Given the description of an element on the screen output the (x, y) to click on. 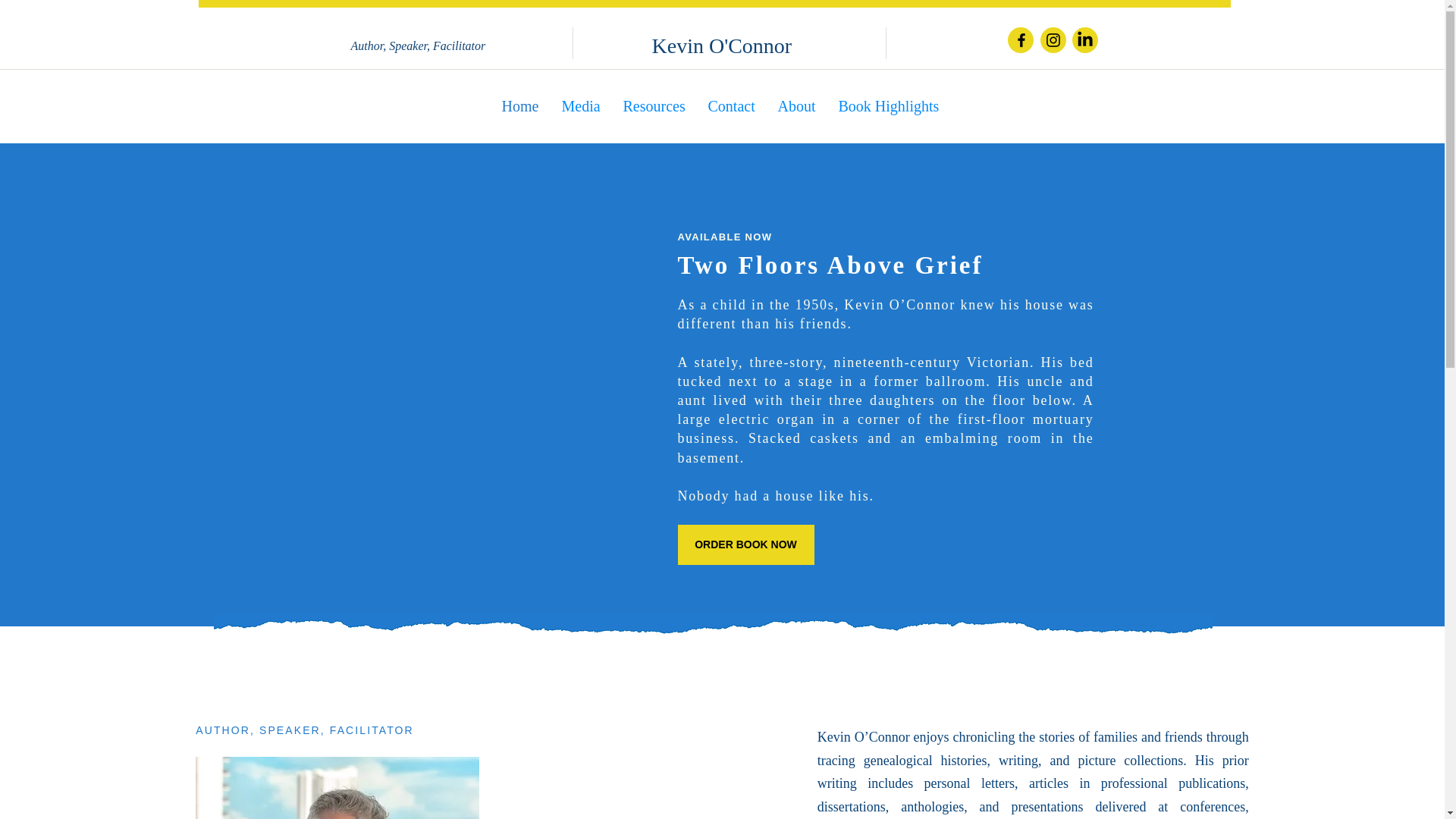
Resources (653, 106)
Book Highlights (888, 106)
Media (580, 106)
Home (519, 106)
ORDER BOOK NOW (745, 544)
Contact (730, 106)
About (796, 106)
